Given the description of an element on the screen output the (x, y) to click on. 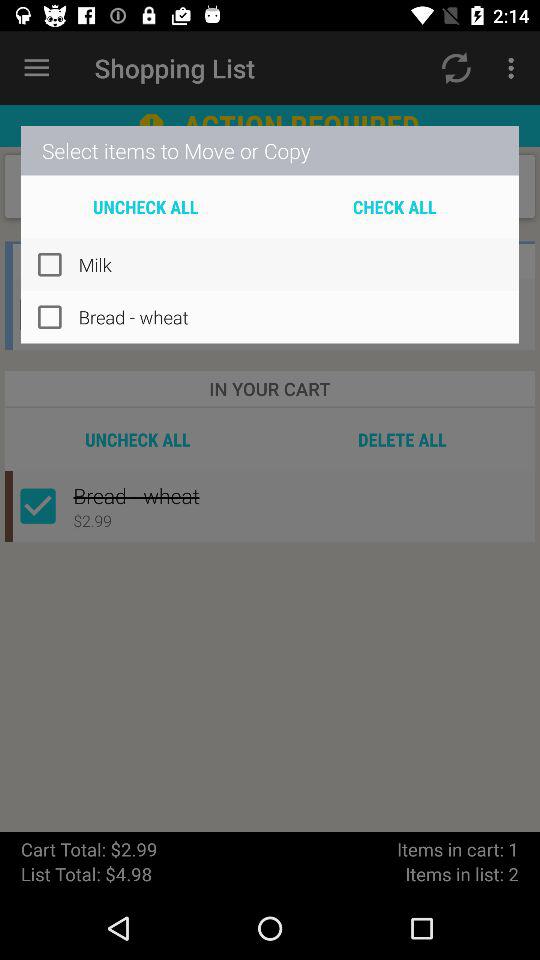
turn off uncheck all icon (145, 206)
